Given the description of an element on the screen output the (x, y) to click on. 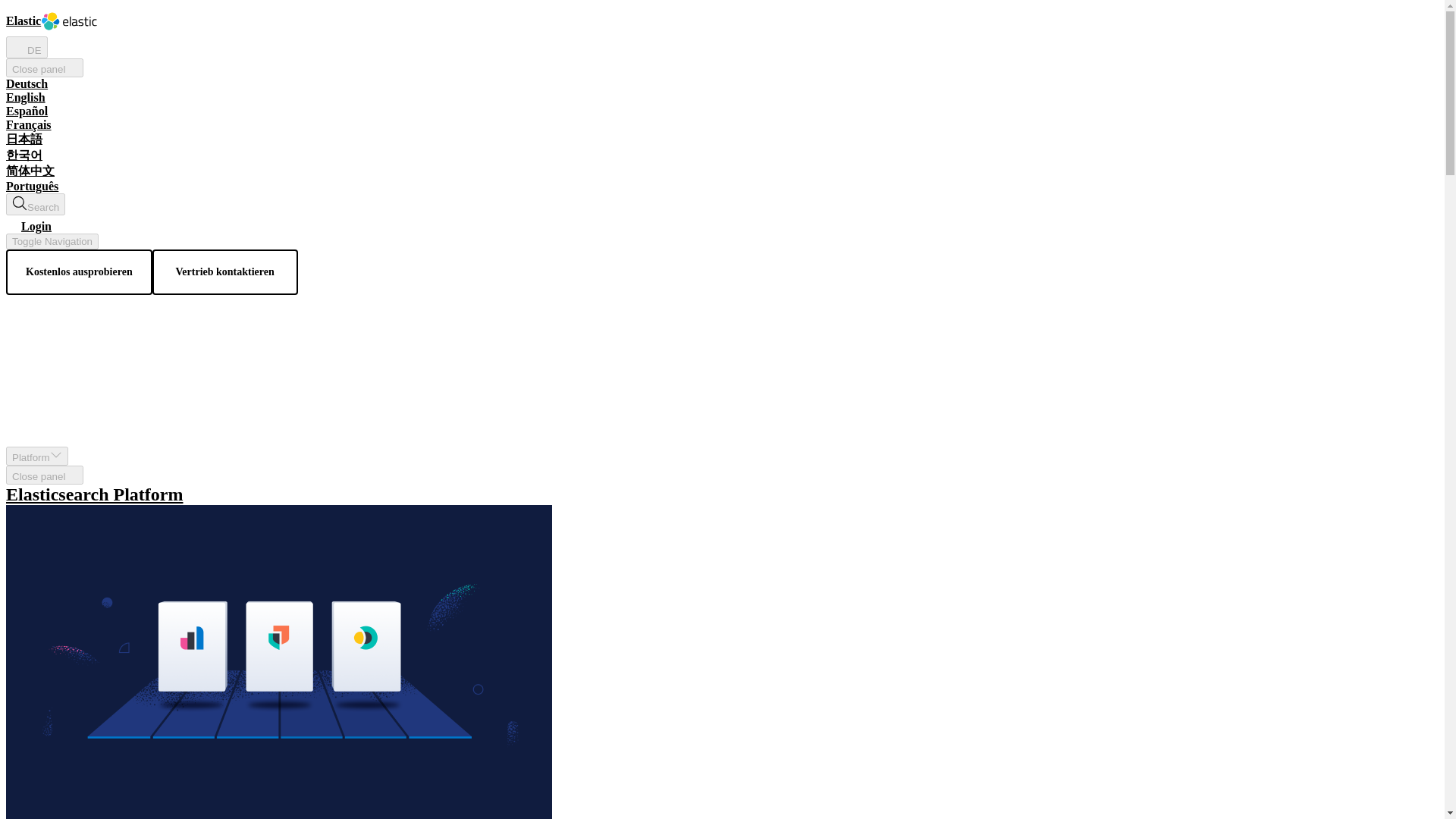
Search (35, 204)
Deutsch (26, 83)
Kostenlos ausprobieren (78, 271)
Toggle Navigation (52, 241)
DE (26, 47)
Vertrieb kontaktieren (225, 271)
Platform (36, 456)
Close panel (43, 475)
Login (27, 226)
Elasticsearch Platform (721, 494)
